Given the description of an element on the screen output the (x, y) to click on. 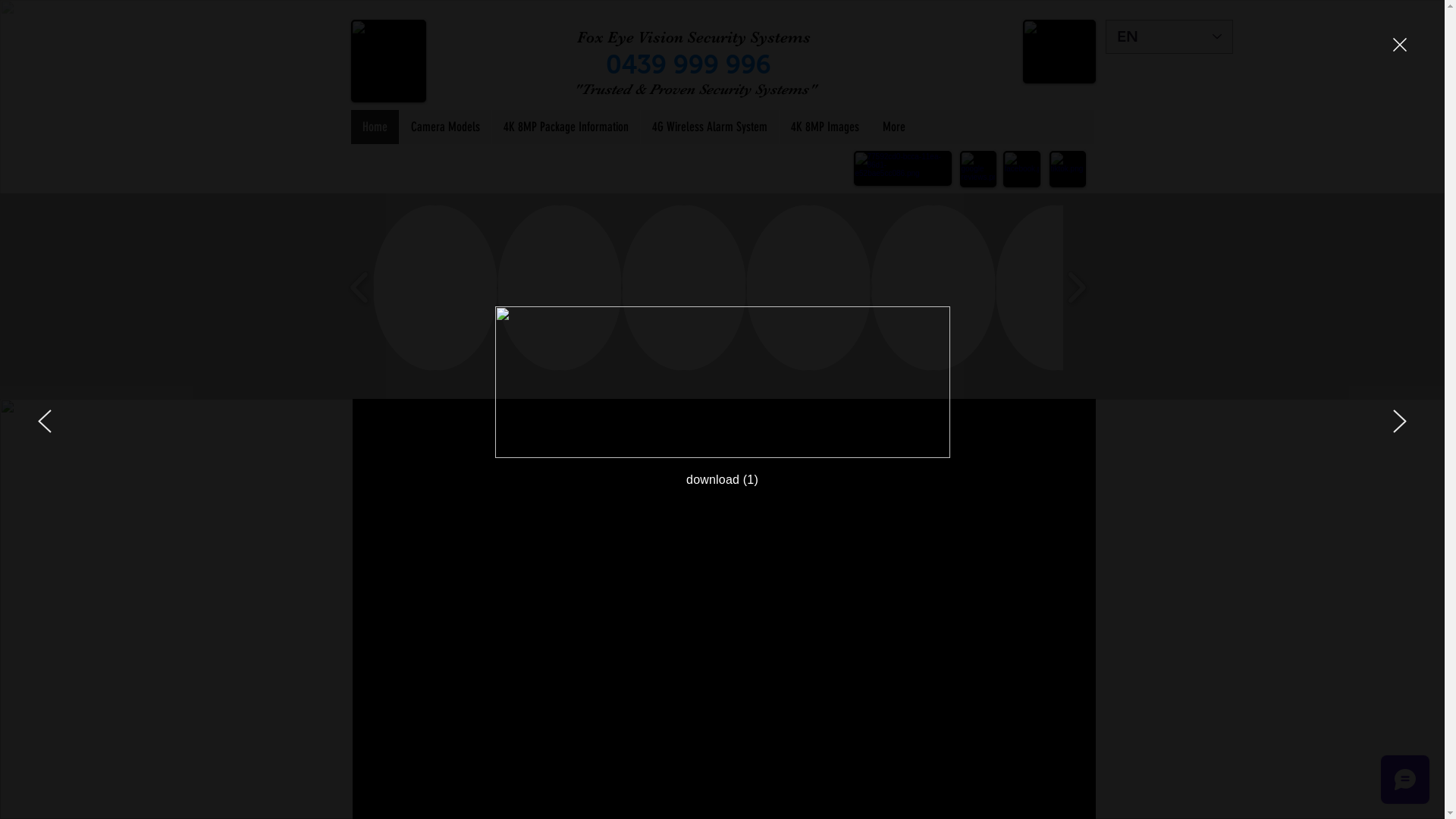
4K 8MP Package Information Element type: text (565, 126)
Home Element type: text (374, 126)
Camera Models Element type: text (444, 126)
4G Wireless Alarm System Element type: text (709, 126)
4K 8MP Images Element type: text (823, 126)
